Given the description of an element on the screen output the (x, y) to click on. 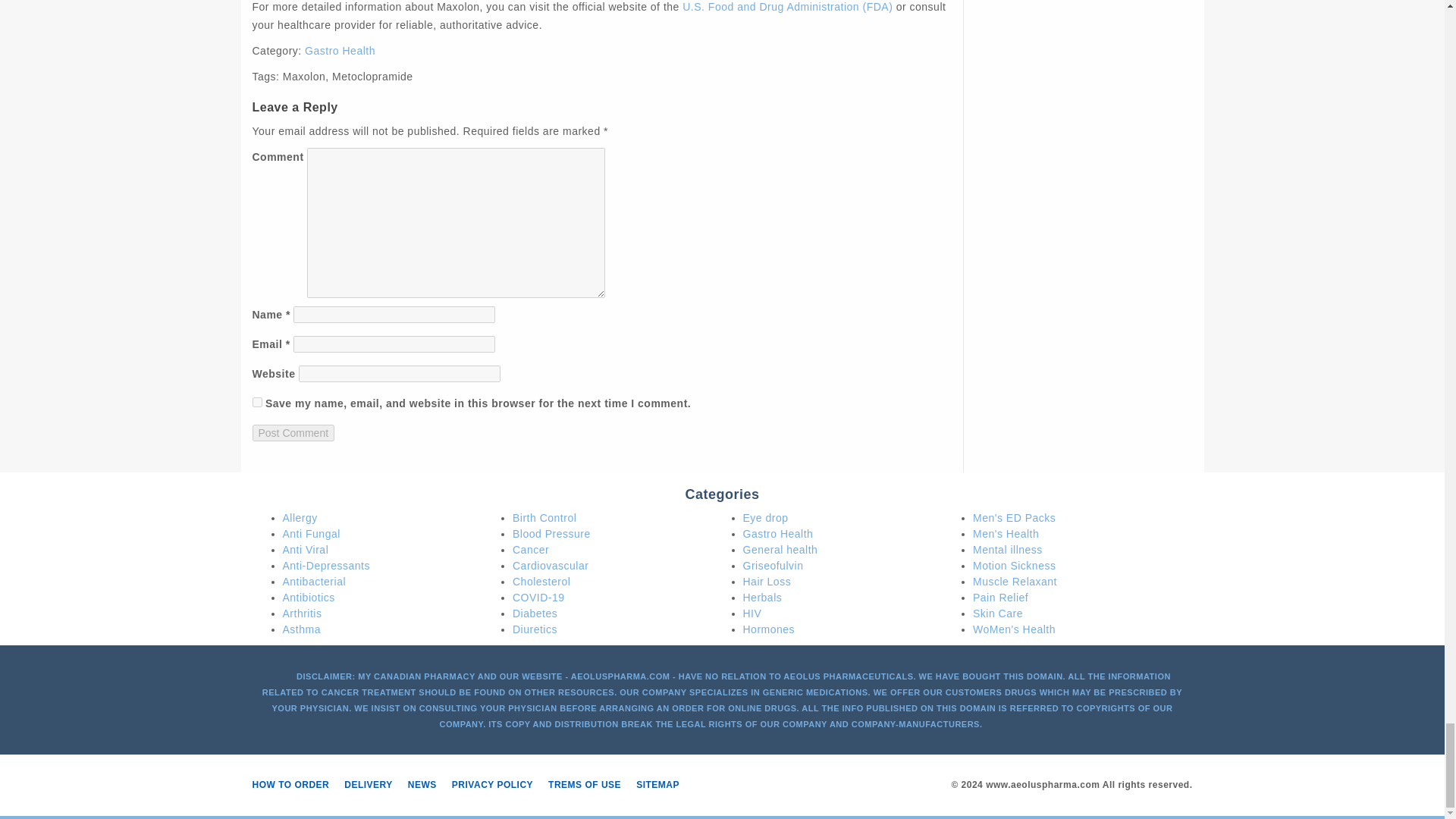
Gastro Health (339, 50)
Post Comment (292, 433)
Post Comment (292, 433)
yes (256, 402)
